Given the description of an element on the screen output the (x, y) to click on. 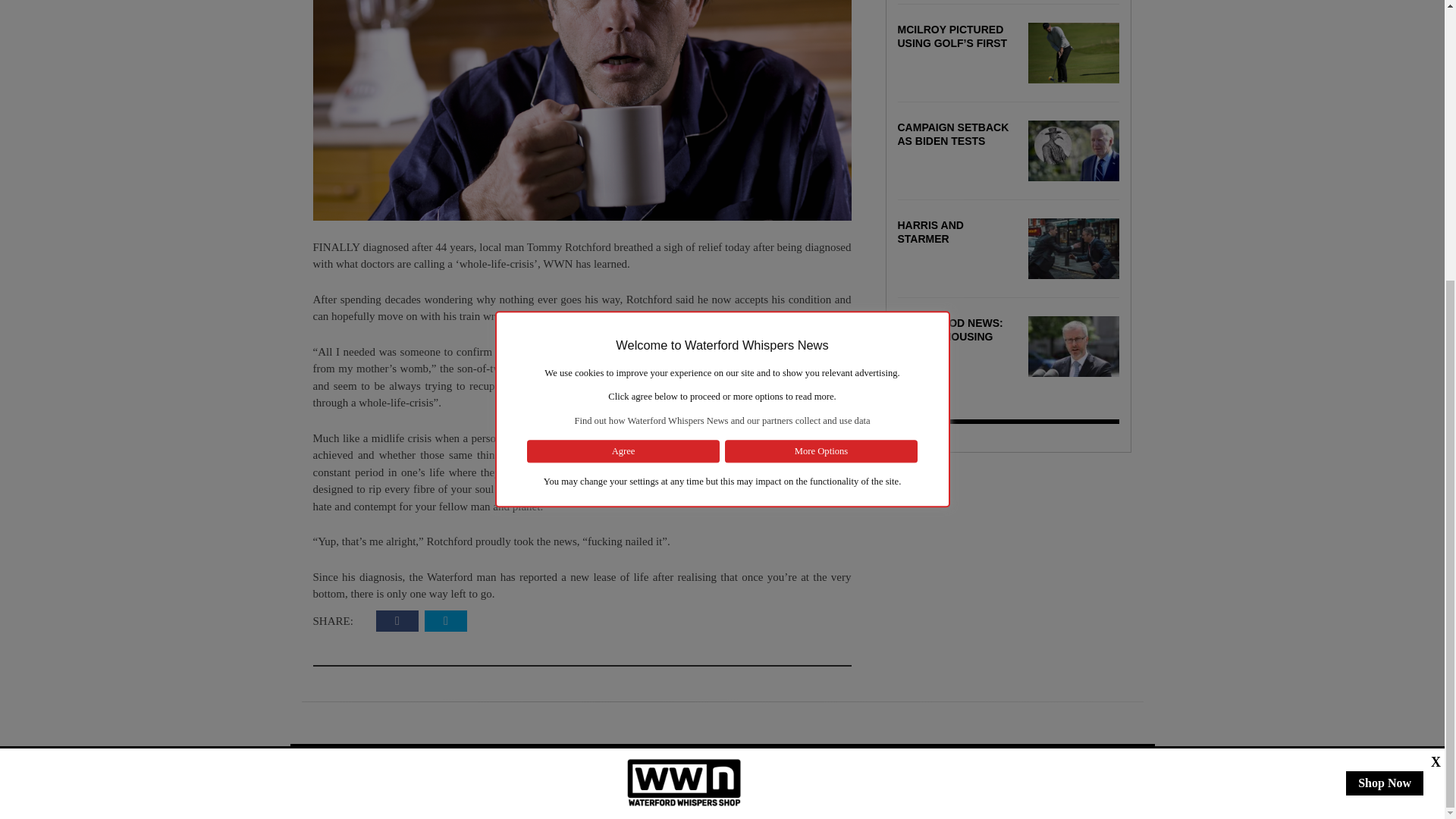
Support us on waterfordwhispers.shop (684, 365)
